Given the description of an element on the screen output the (x, y) to click on. 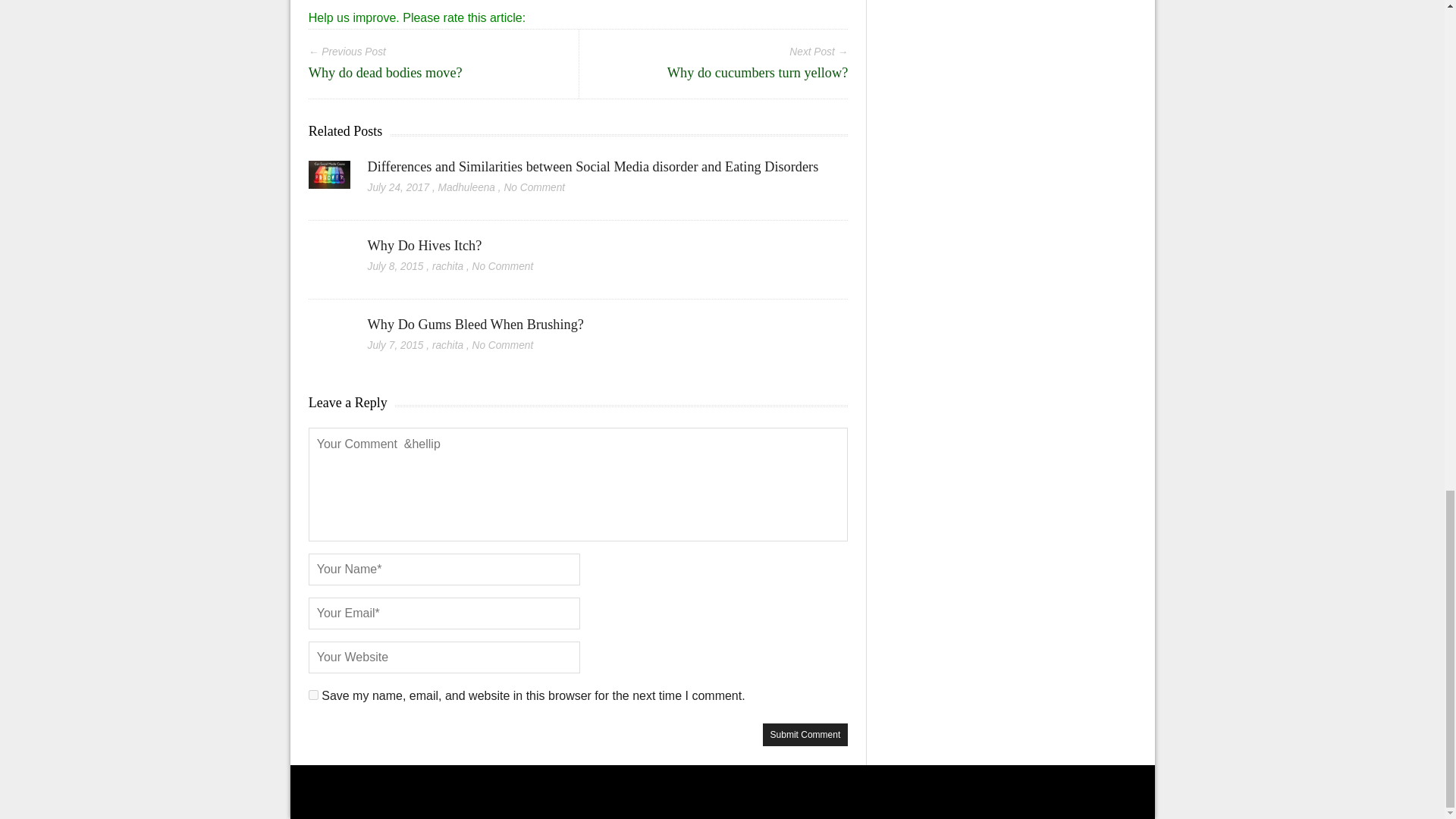
yes (313, 695)
Submit Comment (805, 734)
Why do fit people sweat more? (395, 11)
